Given the description of an element on the screen output the (x, y) to click on. 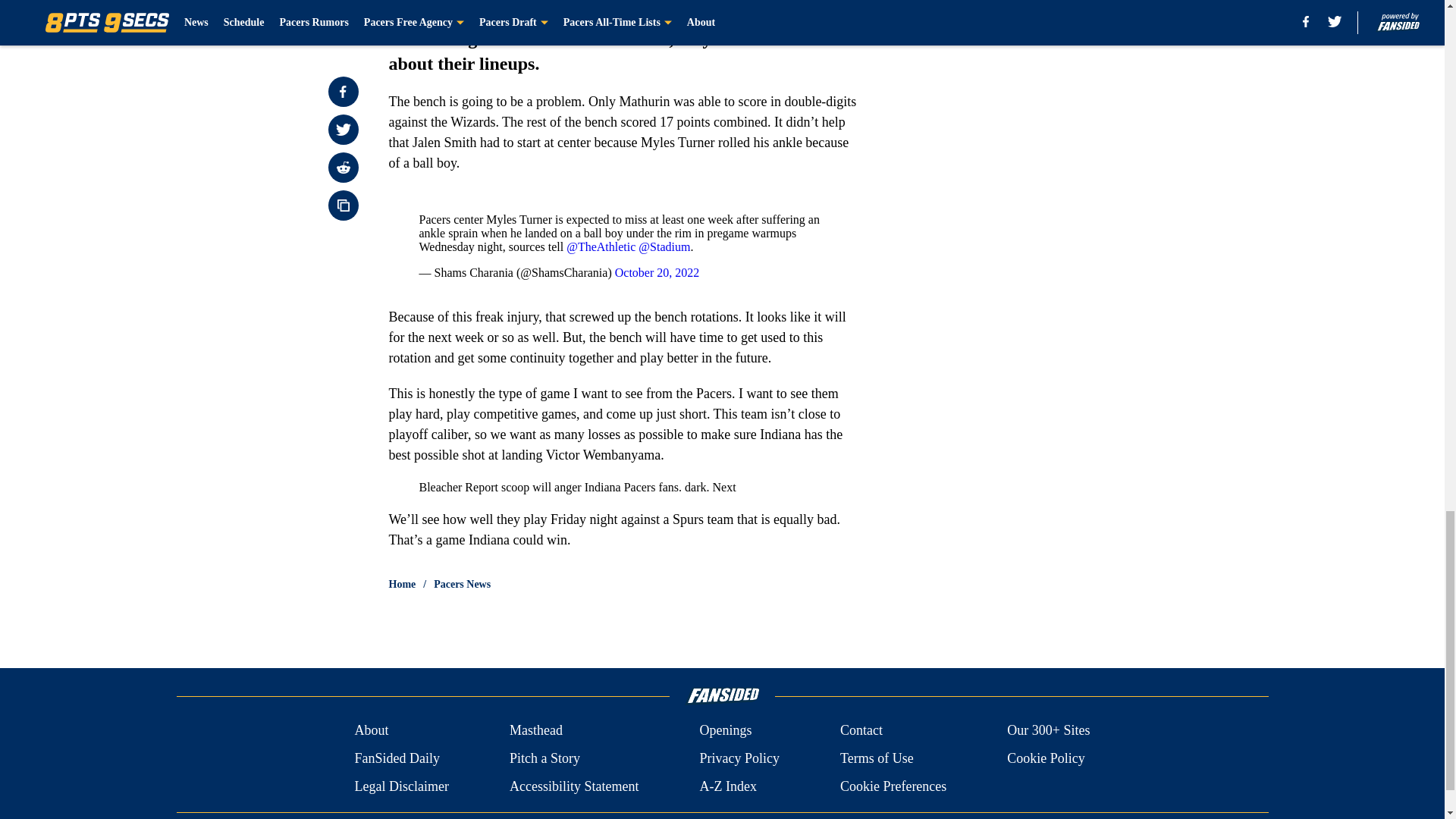
FanSided Daily (396, 758)
October 20, 2022 (657, 272)
Pacers News (461, 584)
About (370, 730)
Privacy Policy (738, 758)
Openings (724, 730)
Terms of Use (877, 758)
Contact (861, 730)
Pitch a Story (544, 758)
Masthead (535, 730)
going to be coming off the bench for long (616, 4)
Home (401, 584)
